Given the description of an element on the screen output the (x, y) to click on. 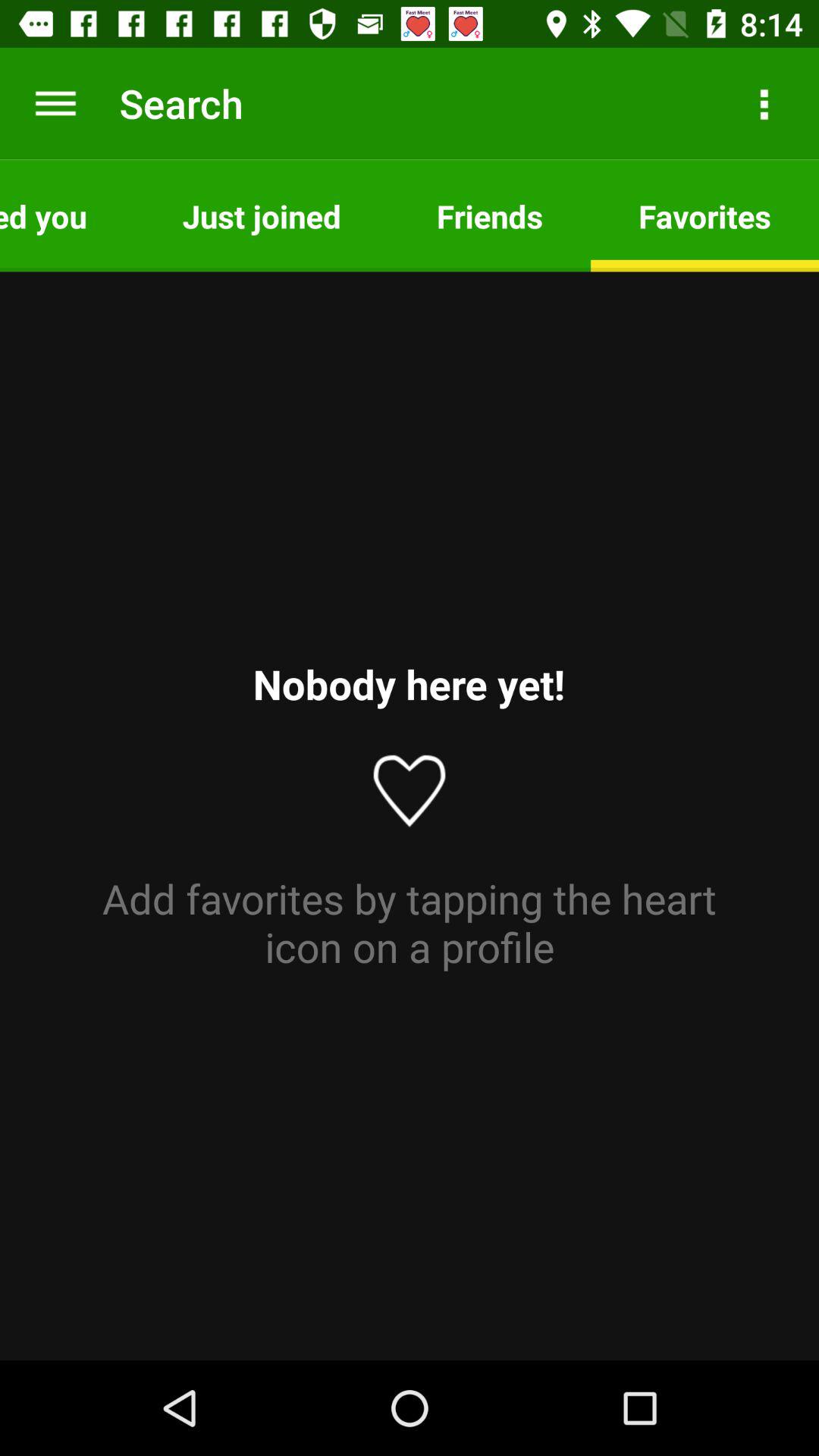
turn on the icon to the left of the search item (55, 103)
